Given the description of an element on the screen output the (x, y) to click on. 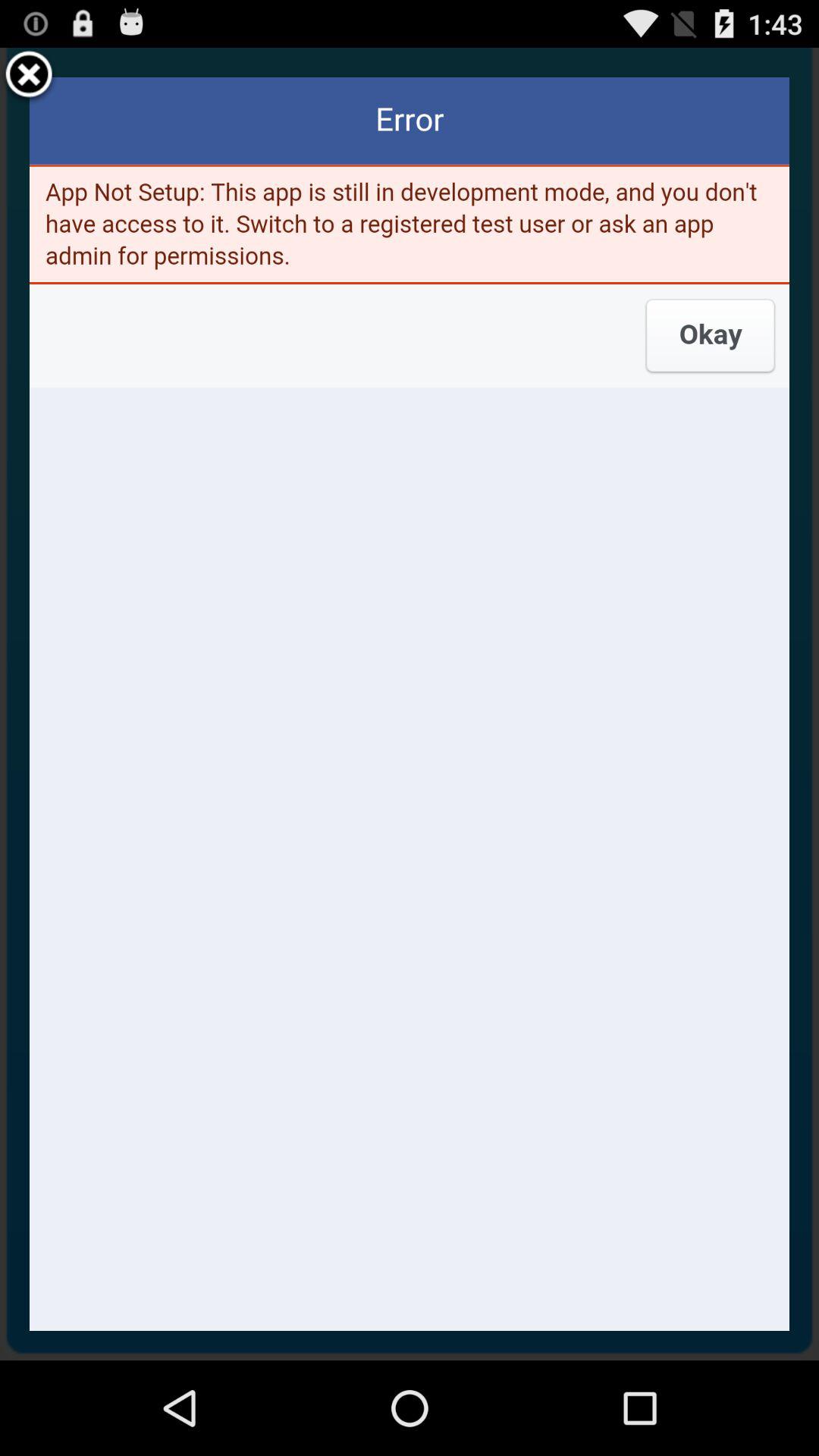
select the item at the top left corner (29, 76)
